Given the description of an element on the screen output the (x, y) to click on. 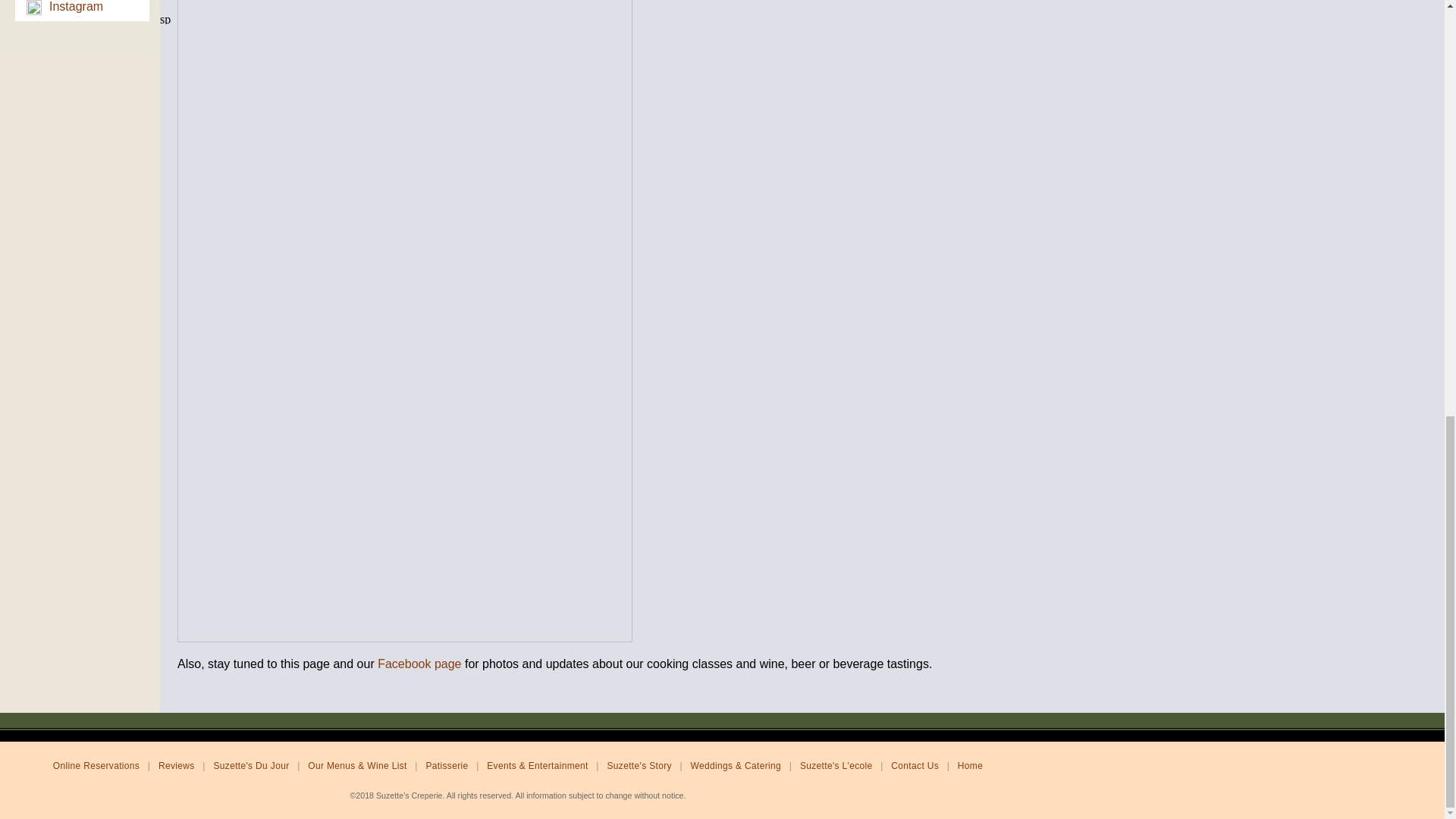
Facebook page (419, 663)
Suzette's Story (639, 765)
Reviews (176, 765)
Suzette's Du Jour (251, 765)
Patisserie (446, 765)
Contact Us (914, 765)
Suzette's L'ecole (835, 765)
Instagram (76, 6)
Online Reservations (96, 765)
